Given the description of an element on the screen output the (x, y) to click on. 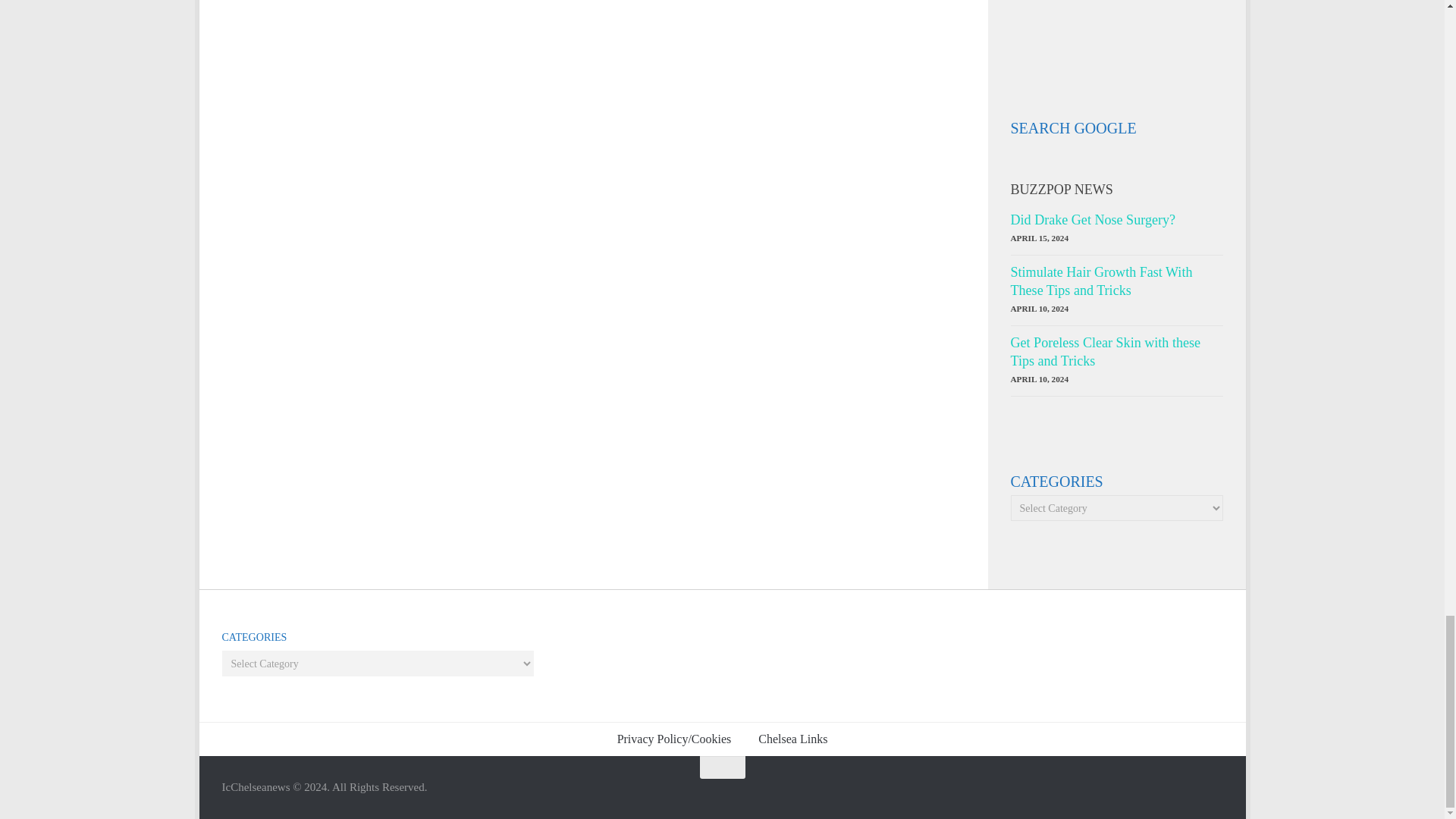
Chelsea News (1055, 32)
